Given the description of an element on the screen output the (x, y) to click on. 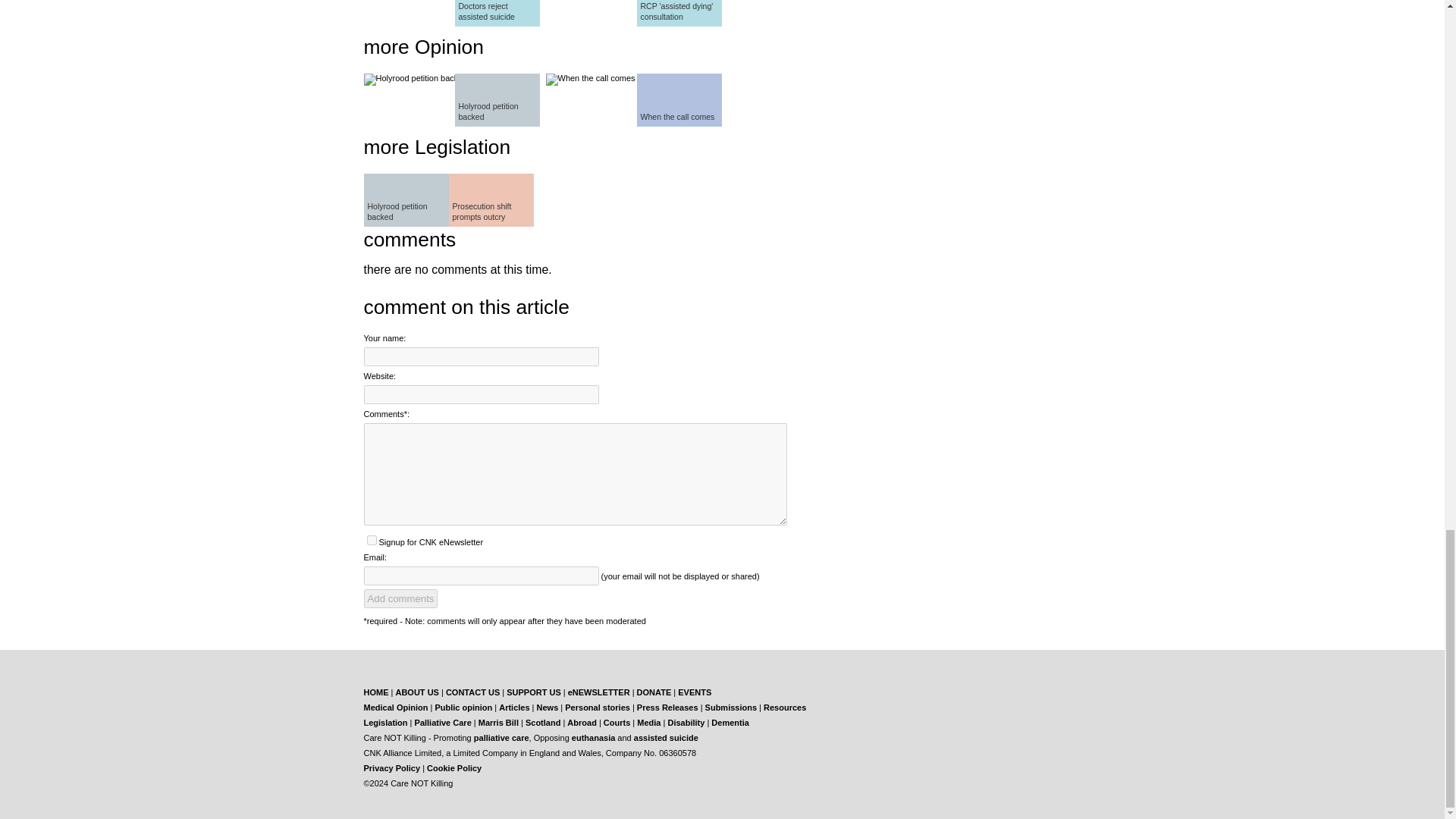
RCP 'assisted dying' consultation (679, 13)
Add comments (401, 598)
Holyrood petition backed (406, 199)
When the call comes (679, 99)
Doctors reject assisted suicide (497, 13)
Holyrood petition backed (497, 99)
on (371, 540)
